Given the description of an element on the screen output the (x, y) to click on. 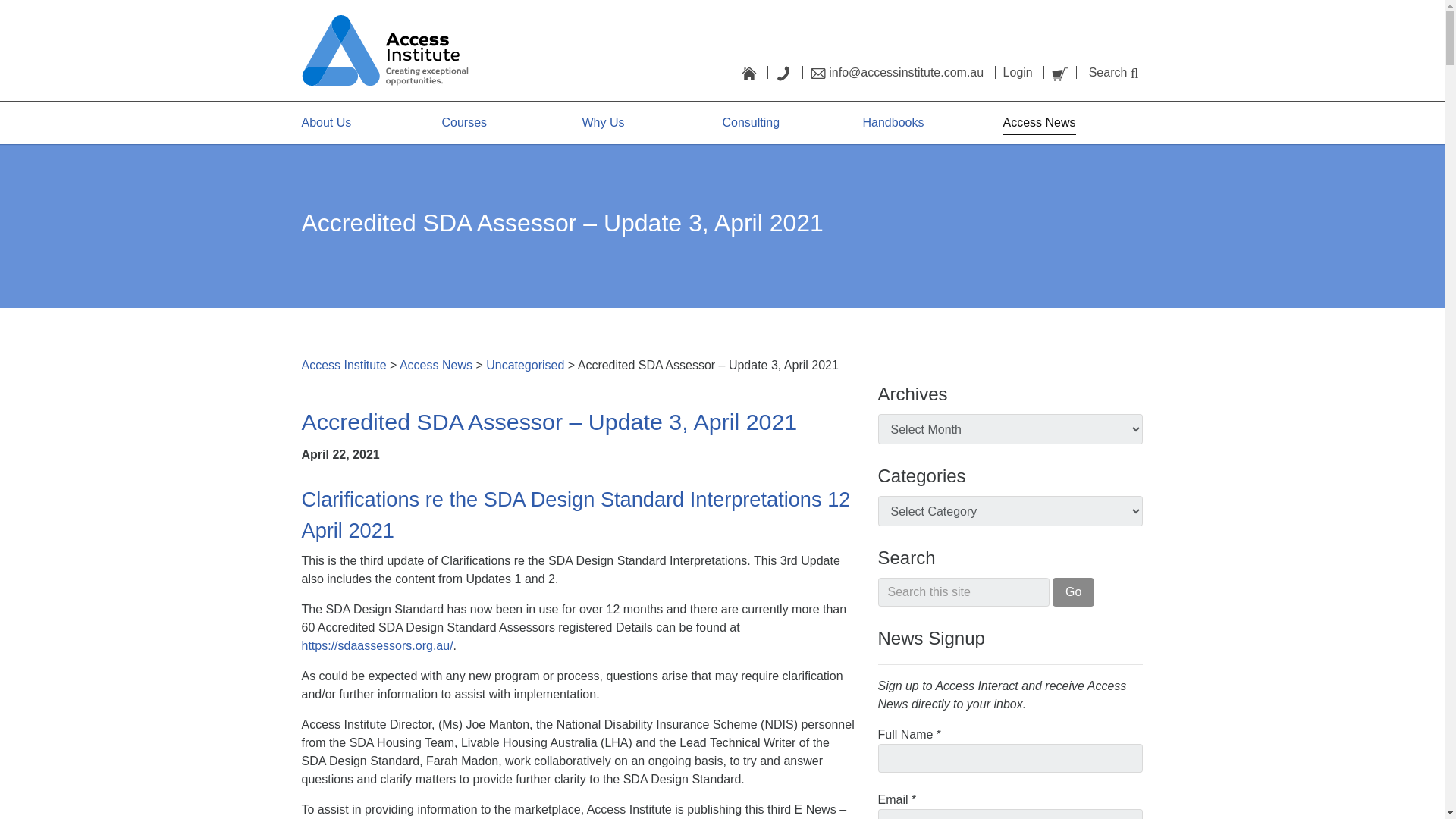
Courses (463, 122)
Click to email us (902, 72)
Consulting Page Link (750, 122)
Click to go to Home (754, 72)
Login (1024, 72)
Access Institute Logo (384, 50)
Access News (434, 364)
Handbooks (893, 122)
Access News Blog Link (1039, 122)
Why Us Page Link (603, 122)
